Given the description of an element on the screen output the (x, y) to click on. 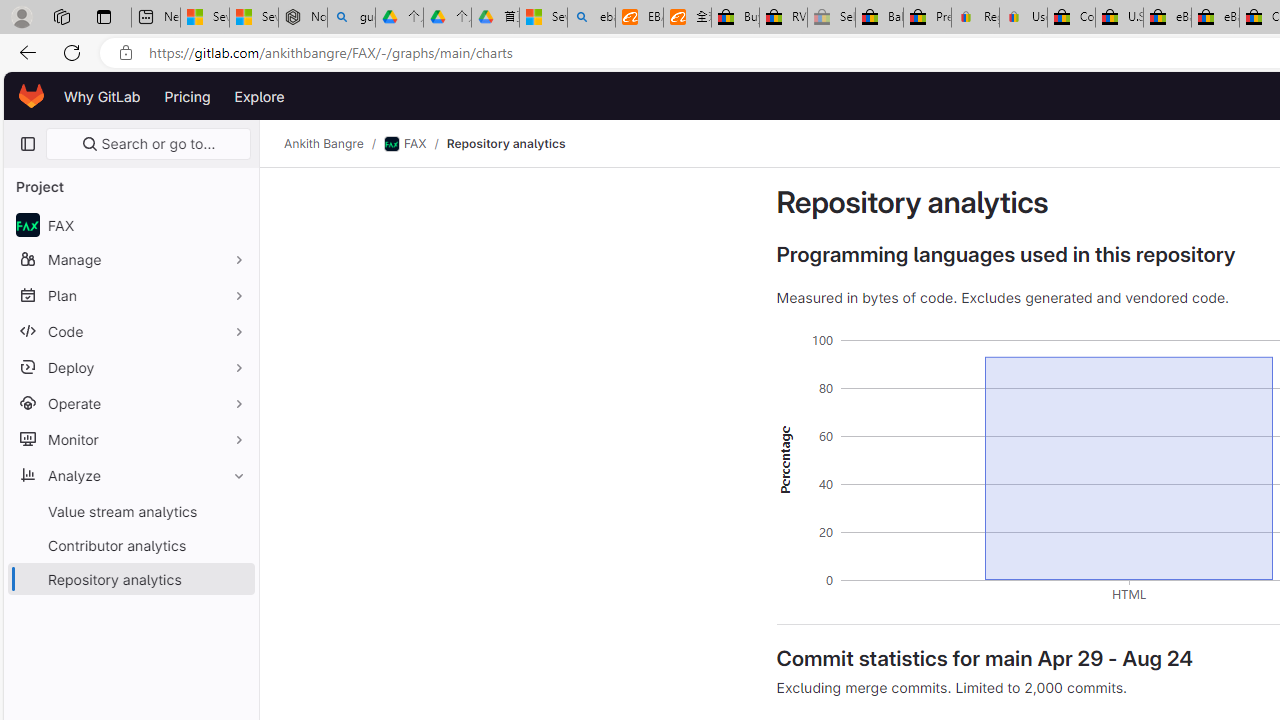
FAX (130, 224)
Value stream analytics (130, 511)
FAX/ (414, 143)
Repository analytics (505, 143)
Explore (259, 95)
Consumer Health Data Privacy Policy - eBay Inc. (1071, 17)
Operate (130, 403)
Manage (130, 259)
Contributor analytics (130, 544)
